Given the description of an element on the screen output the (x, y) to click on. 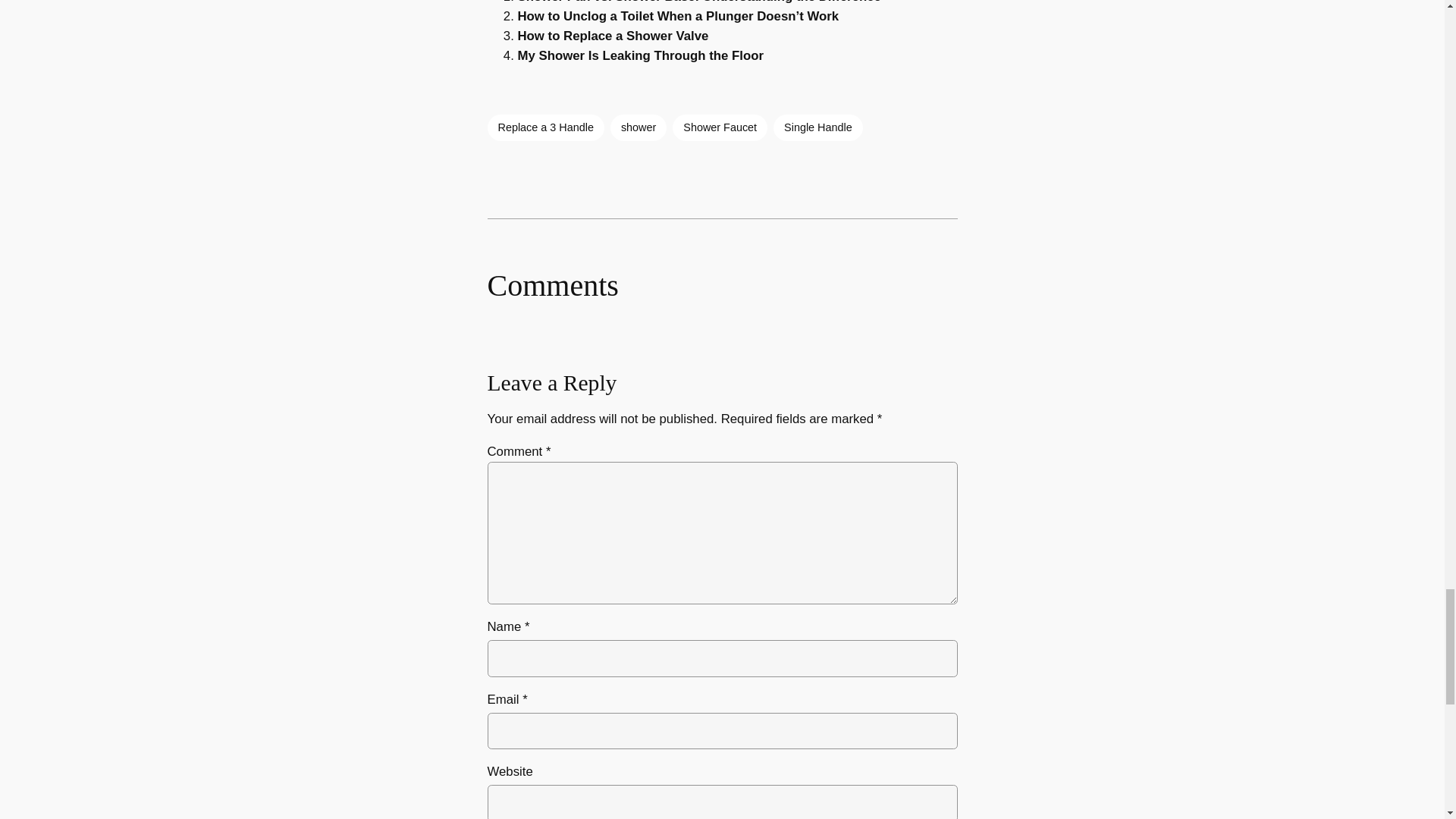
shower (638, 127)
Shower Pan vs. Shower Base: Understanding the Difference (698, 2)
My Shower Is Leaking Through the Floor (639, 55)
My Shower Is Leaking Through the Floor (639, 55)
Single Handle (818, 127)
Replace a 3 Handle (545, 127)
How to Replace a Shower Valve (611, 35)
How to Replace a Shower Valve (611, 35)
Shower Pan vs. Shower Base: Understanding the Difference (698, 2)
Shower Faucet (719, 127)
